Given the description of an element on the screen output the (x, y) to click on. 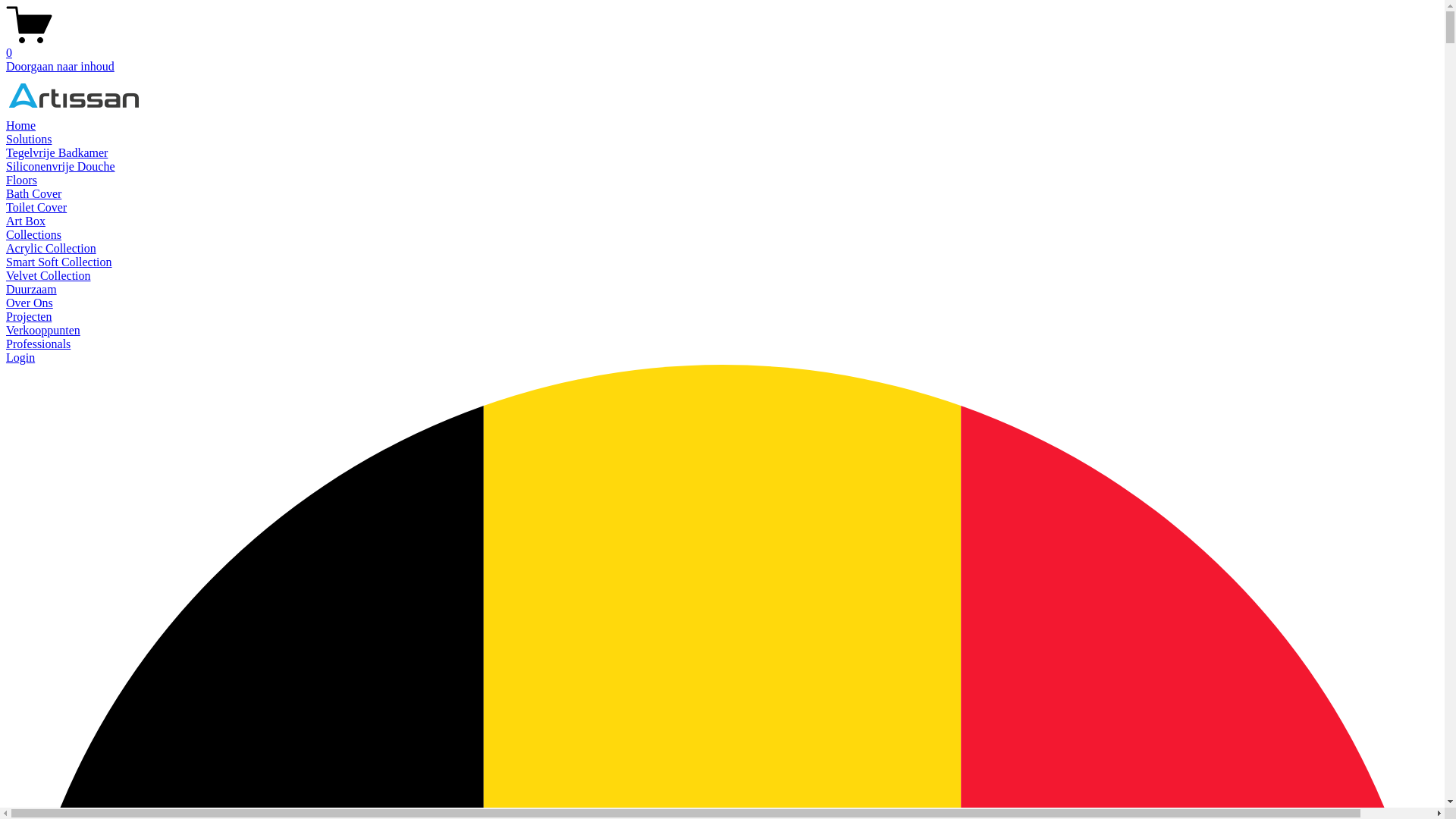
Home Element type: text (20, 125)
Tegelvrije Badkamer Element type: text (56, 152)
Smart Soft Collection Element type: text (59, 261)
Login Element type: text (20, 357)
Professionals Element type: text (38, 343)
Bath Cover Element type: text (33, 193)
Art Box Element type: text (25, 220)
Verkooppunten Element type: text (43, 329)
Over Ons Element type: text (29, 302)
Siliconenvrije Douche Element type: text (60, 166)
Solutions Element type: text (28, 138)
Duurzaam Element type: text (31, 288)
0 Element type: text (722, 45)
Toilet Cover Element type: text (36, 206)
Projecten Element type: text (28, 316)
Acrylic Collection Element type: text (51, 247)
Velvet Collection Element type: text (48, 275)
Floors Element type: text (21, 179)
Doorgaan naar inhoud Element type: text (60, 65)
Collections Element type: text (33, 234)
